Given the description of an element on the screen output the (x, y) to click on. 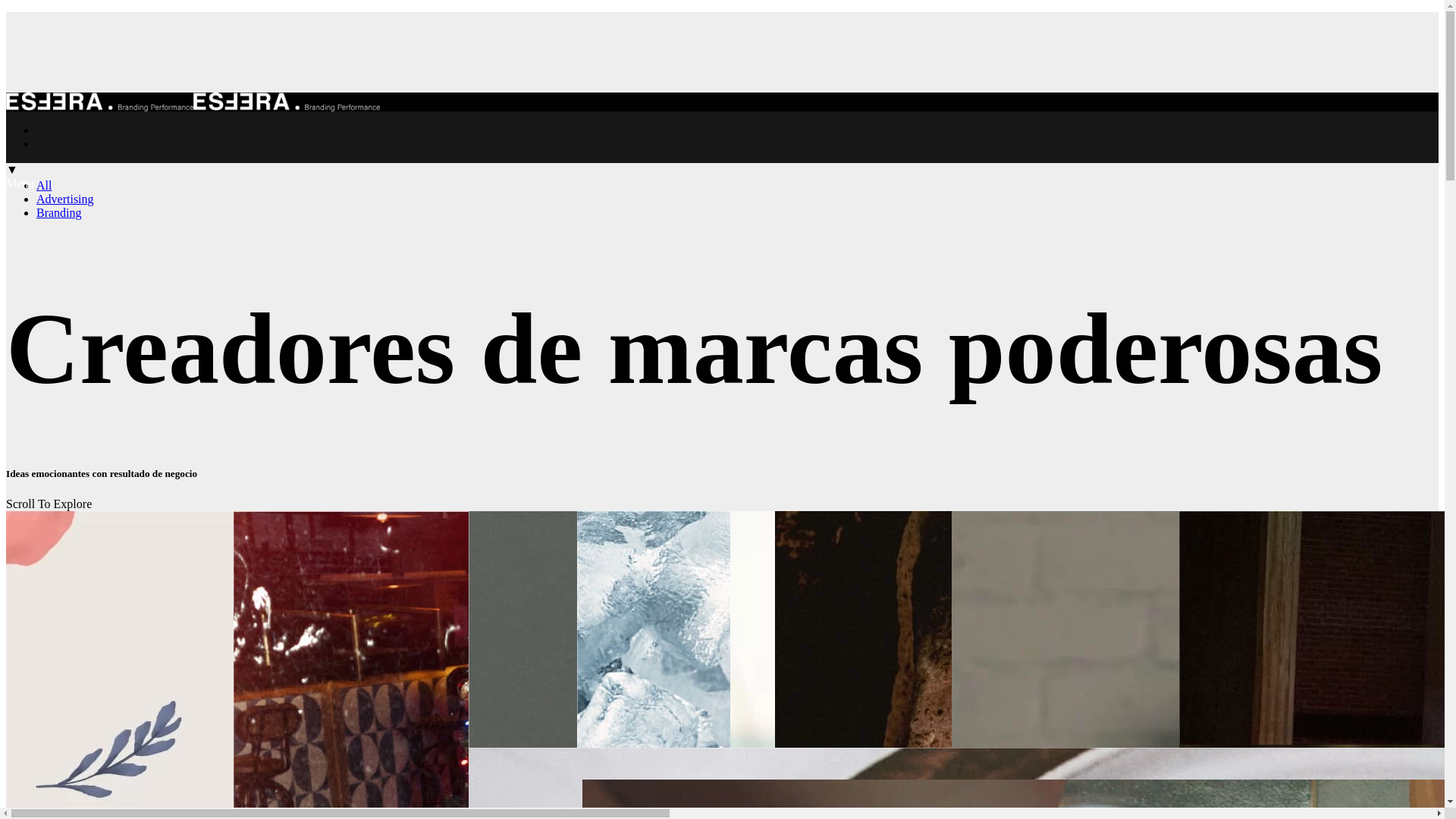
All Element type: text (43, 184)
Advertising Element type: text (65, 198)
Branding Element type: text (58, 212)
